Given the description of an element on the screen output the (x, y) to click on. 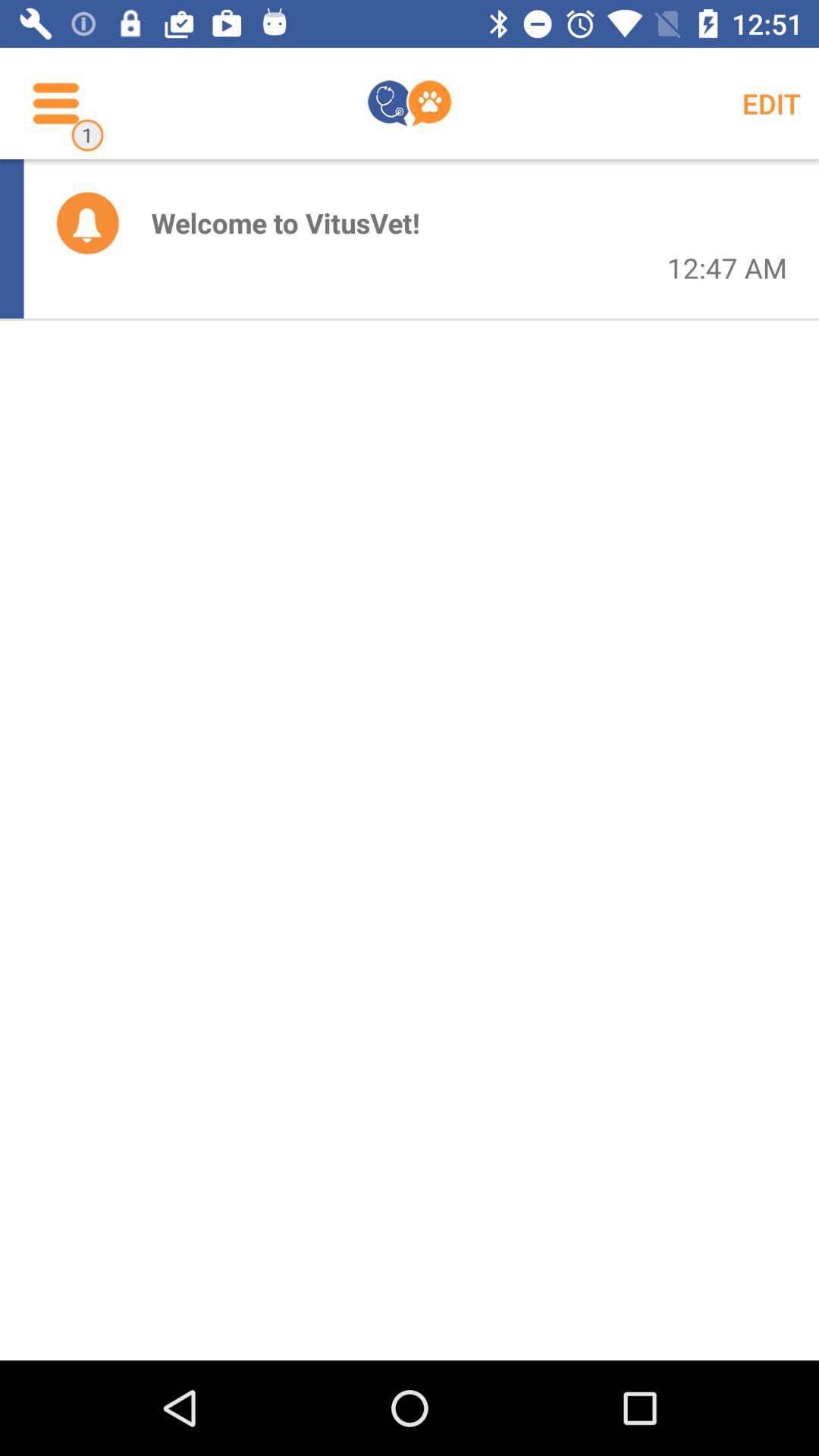
turn off the icon to the left of welcome to vitusvet! item (87, 222)
